Given the description of an element on the screen output the (x, y) to click on. 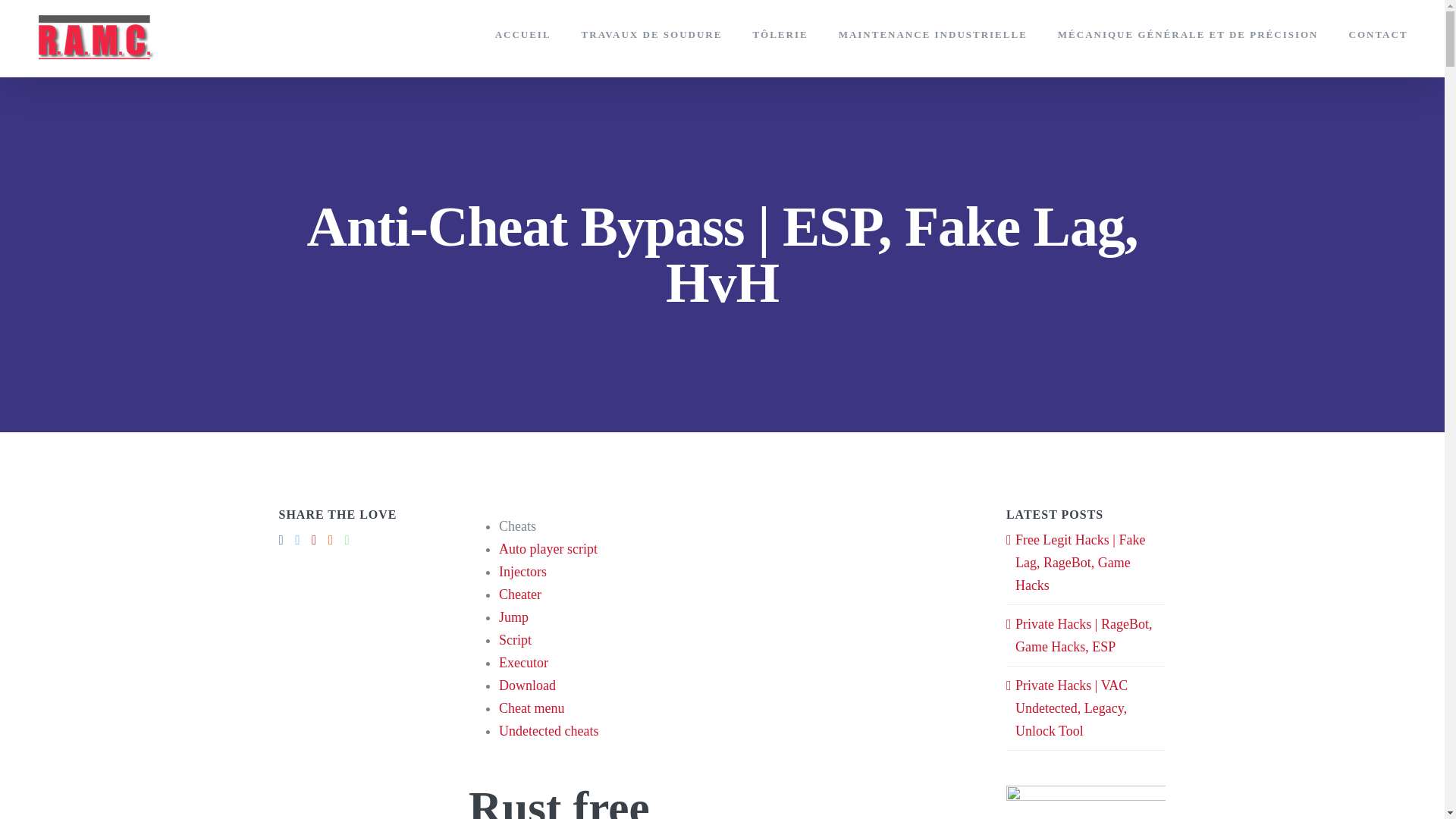
Script (515, 639)
Executor (523, 662)
Download (527, 685)
Jump (513, 616)
Undetected cheats (548, 730)
Cheater (520, 594)
MAINTENANCE INDUSTRIELLE (932, 33)
Cheat menu (531, 708)
Auto player script (547, 548)
TRAVAUX DE SOUDURE (651, 33)
Injectors (523, 571)
